Given the description of an element on the screen output the (x, y) to click on. 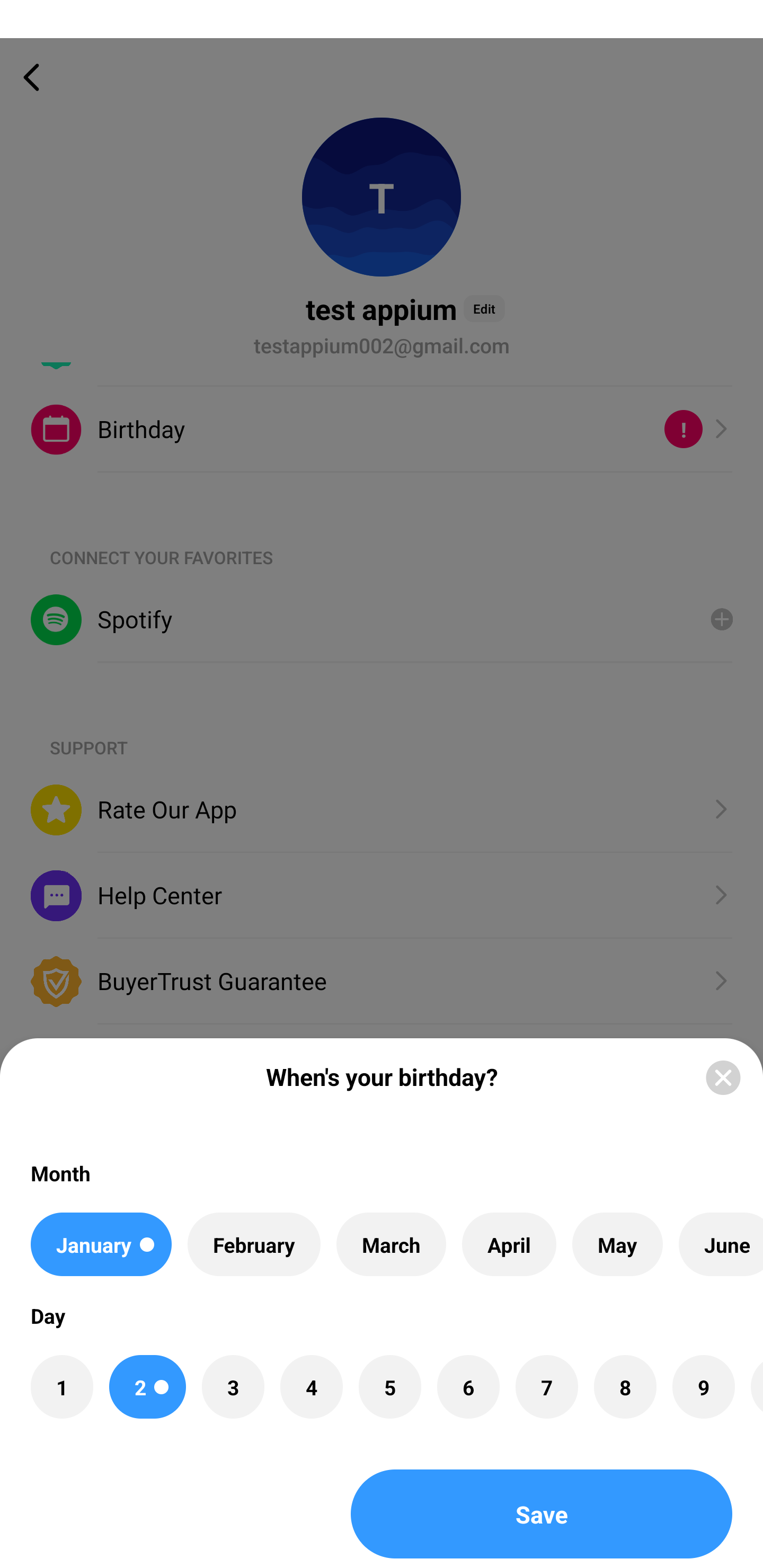
January (100, 1244)
February (253, 1244)
March (391, 1244)
April (509, 1244)
May (617, 1244)
June (721, 1244)
1 (61, 1386)
2 (147, 1386)
3 (233, 1386)
4 (311, 1386)
5 (389, 1386)
6 (468, 1386)
7 (546, 1386)
8 (624, 1386)
9 (703, 1386)
Save (541, 1513)
